Given the description of an element on the screen output the (x, y) to click on. 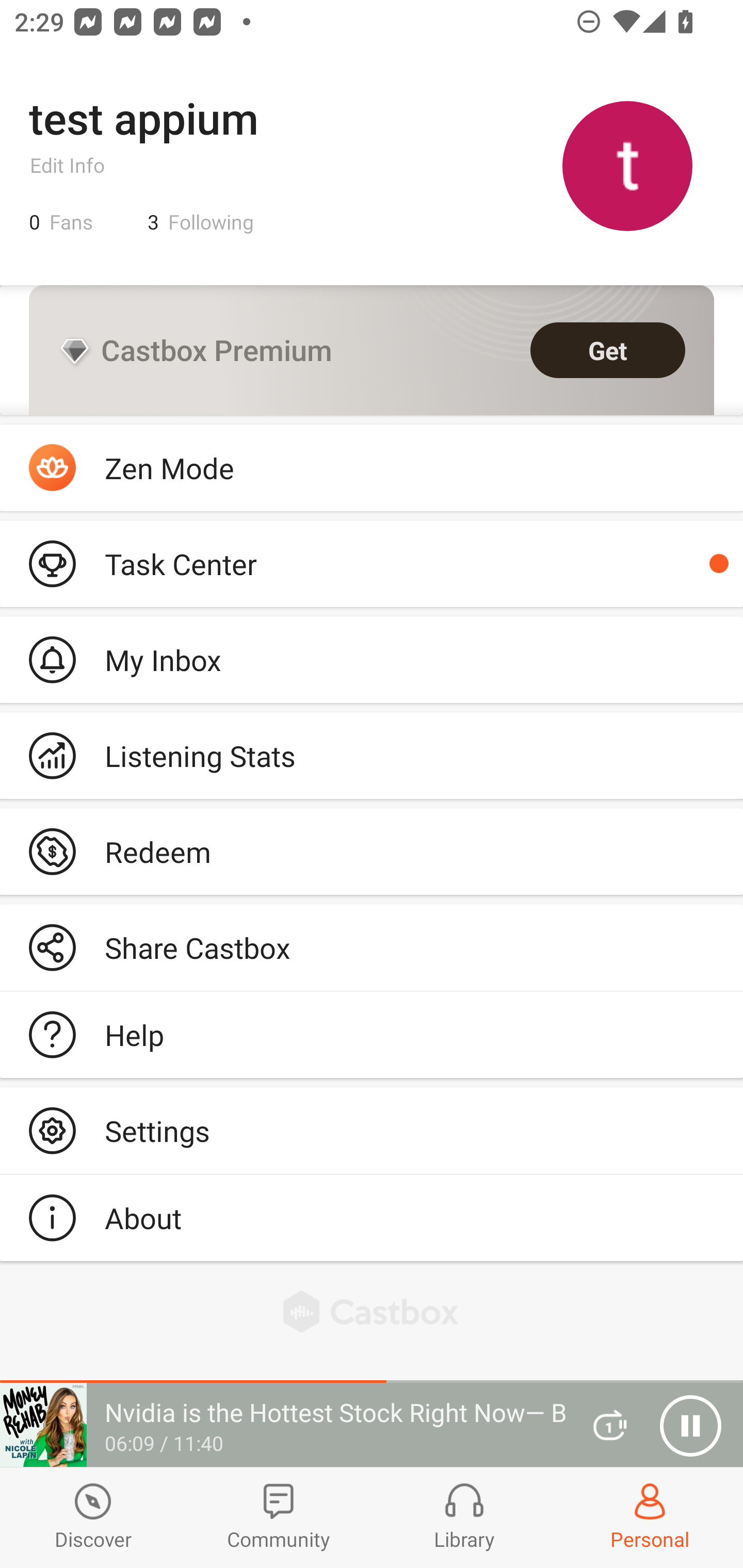
test appium Edit Info 0 Fans 3 Following (371, 165)
0 Fans (60, 221)
3 Following (200, 221)
Castbox Premium Get (371, 350)
Get (607, 350)
Zen Mode (371, 467)
Podcaster  Task Center (371, 563)
 My Inbox (371, 659)
 Listening Stats (371, 755)
 Redeem (371, 851)
 Share Castbox (371, 947)
 Help (371, 1034)
 Settings (371, 1130)
 About (371, 1217)
Pause (690, 1425)
Discover (92, 1517)
Community (278, 1517)
Library (464, 1517)
Profiles and Settings Personal (650, 1517)
